Given the description of an element on the screen output the (x, y) to click on. 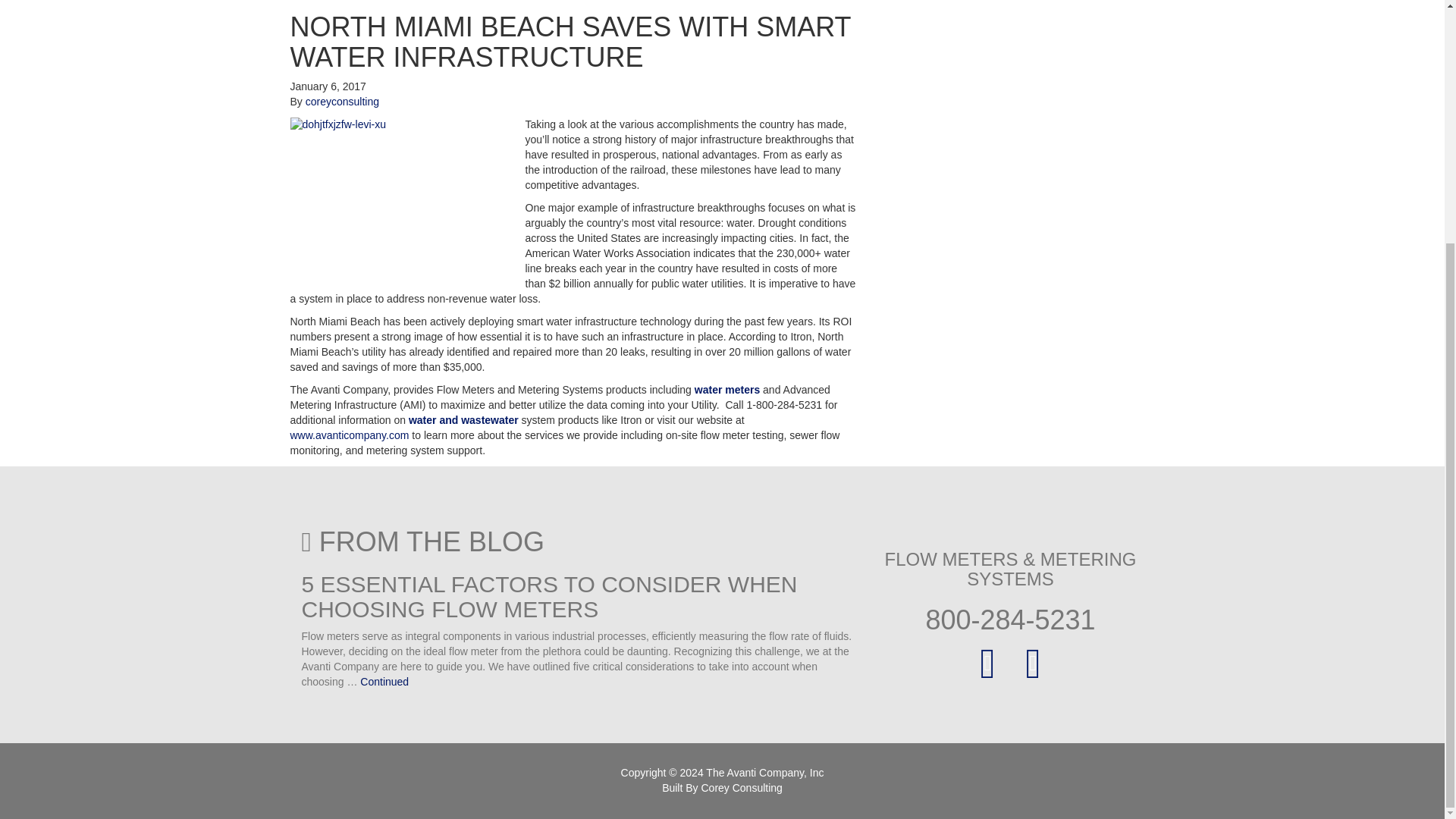
water meters (727, 389)
water and wastewater (463, 419)
Continued (384, 681)
coreyconsulting (341, 101)
www.avanticompany.com (349, 435)
Corey Consulting (740, 787)
